Given the description of an element on the screen output the (x, y) to click on. 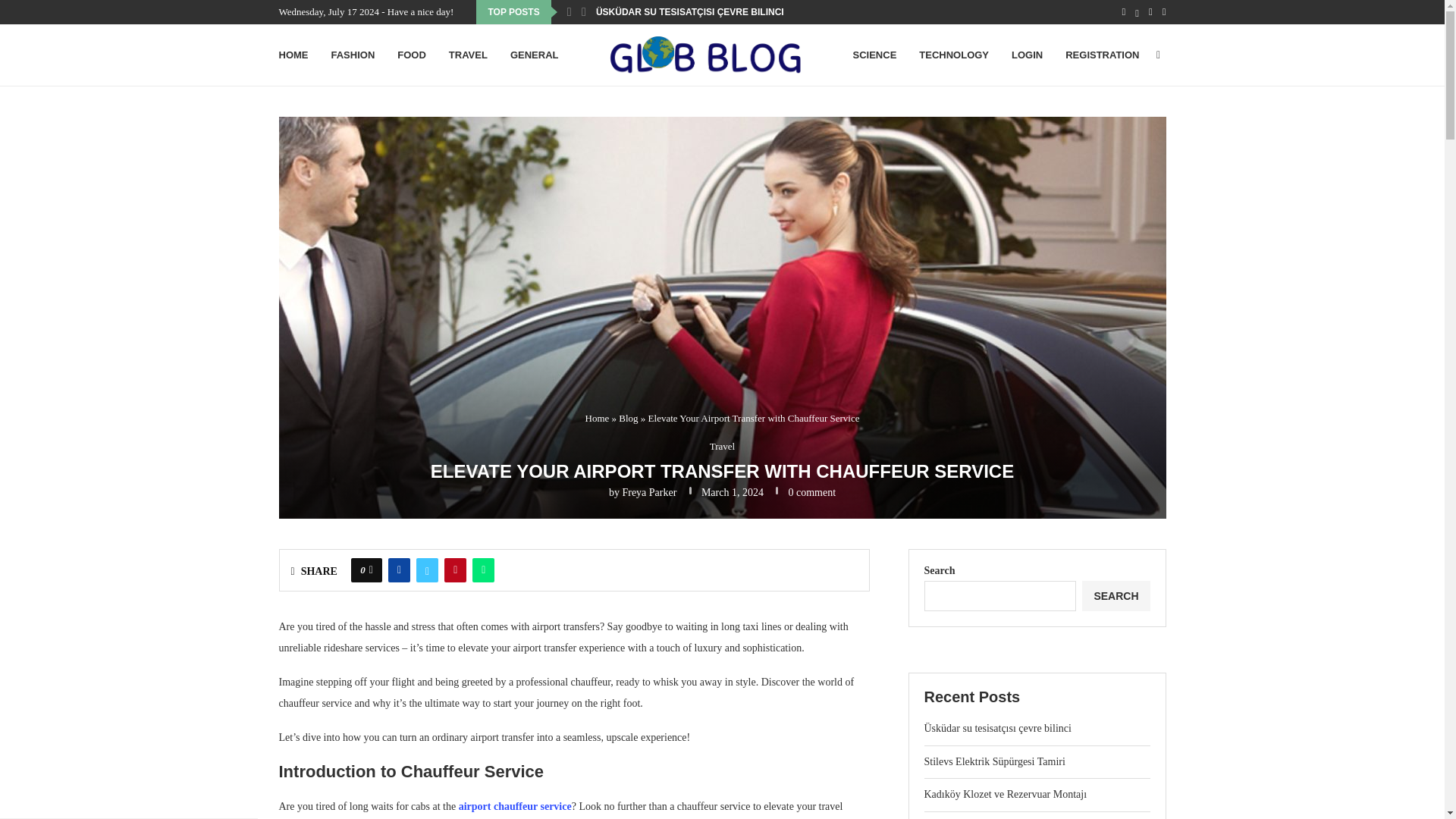
TECHNOLOGY (953, 55)
Travel (722, 446)
REGISTRATION (1101, 55)
Freya Parker (649, 491)
Blog (627, 418)
Home (597, 418)
